Given the description of an element on the screen output the (x, y) to click on. 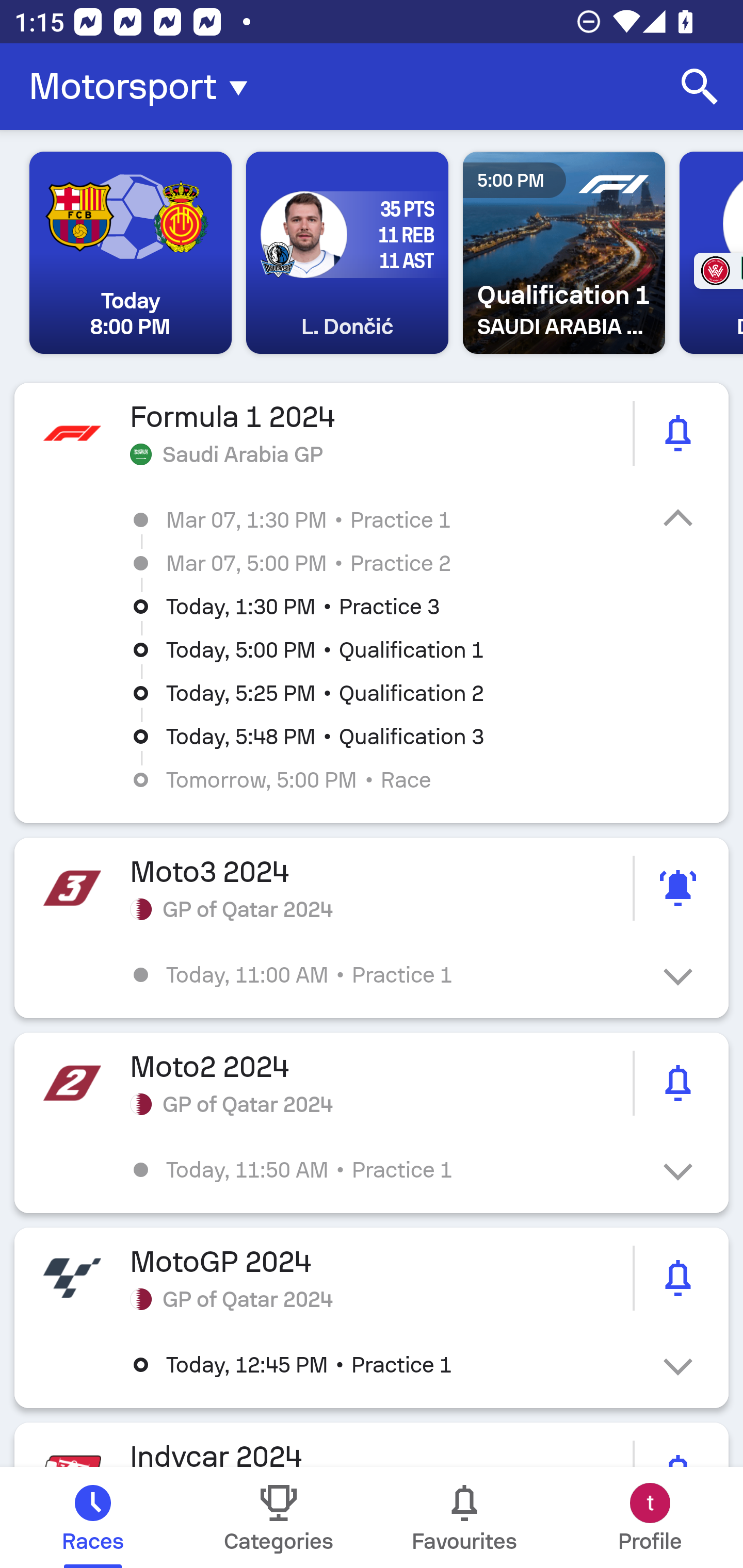
Motorsport (144, 86)
Search (699, 86)
Today
8:00 PM (130, 253)
35 PTS
11 REB
11 AST L. Dončić (346, 253)
Today, 11:00 AM • Practice 1 (385, 974)
Today, 11:50 AM • Practice 1 (385, 1169)
Today, 12:45 PM • Practice 1 (385, 1364)
Categories (278, 1517)
Favourites (464, 1517)
Profile (650, 1517)
